Given the description of an element on the screen output the (x, y) to click on. 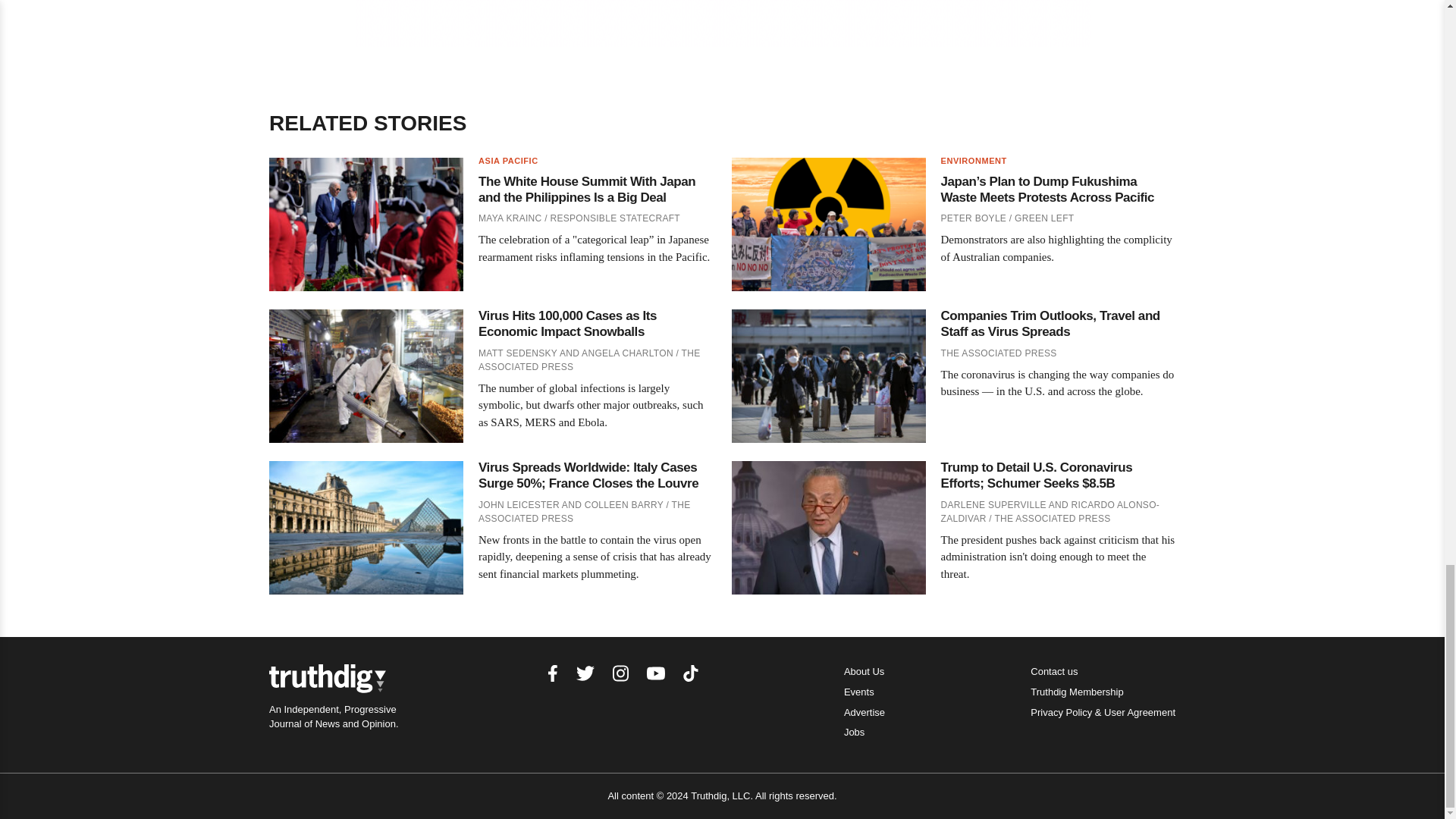
3rd party ad content (722, 23)
